Given the description of an element on the screen output the (x, y) to click on. 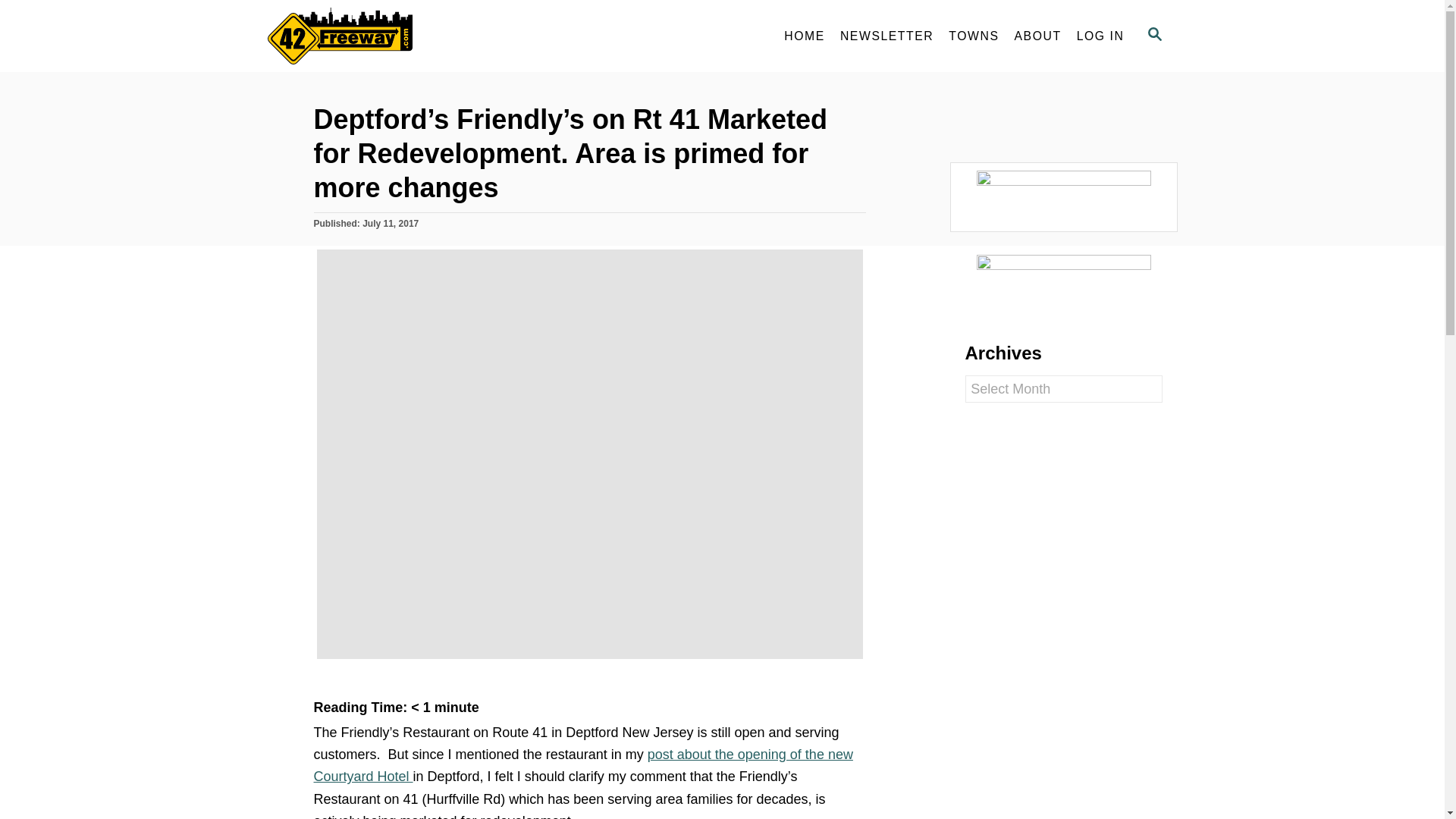
NEWSLETTER (886, 36)
post about the opening of the new Courtyard Hotel (583, 764)
ABOUT (1037, 36)
SEARCH (1153, 35)
42 Freeway (403, 36)
HOME (804, 36)
LOG IN (1100, 36)
TOWNS (973, 36)
